Given the description of an element on the screen output the (x, y) to click on. 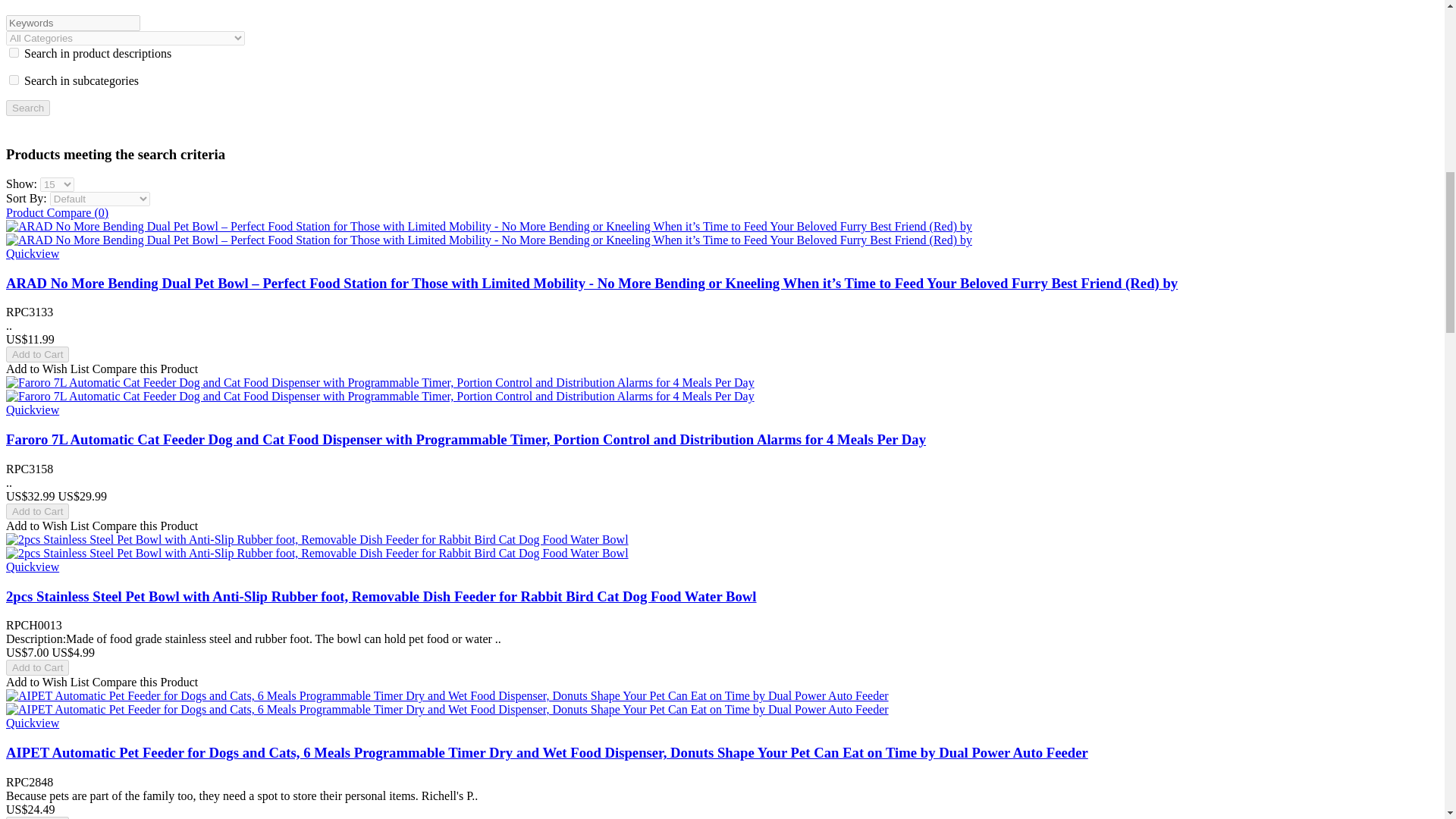
1 (13, 80)
Search (27, 107)
1 (13, 52)
